Given the description of an element on the screen output the (x, y) to click on. 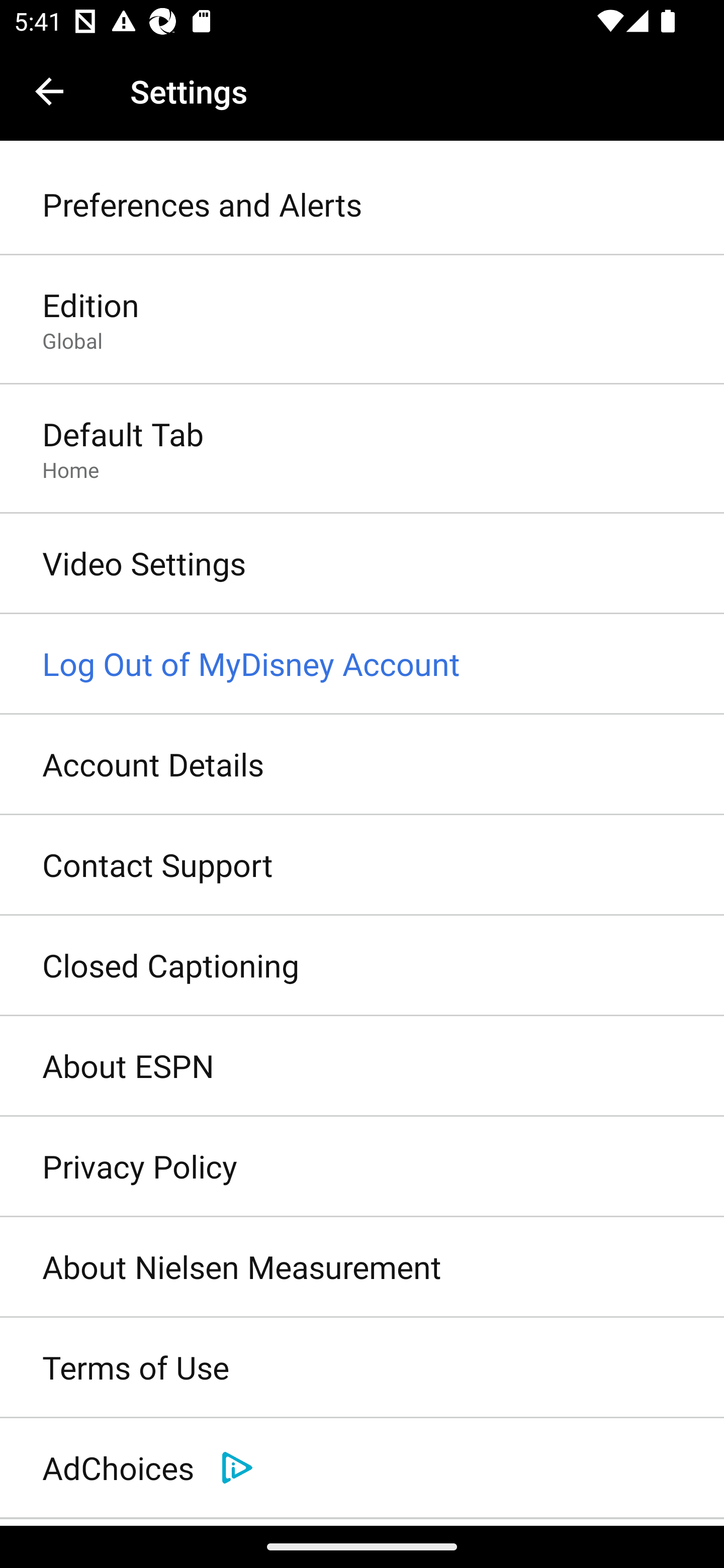
Navigate up (49, 91)
Preferences and Alerts (362, 205)
Edition Global (362, 320)
Default Tab Home (362, 449)
Video Settings (362, 564)
Log Out of MyDisney Account (362, 664)
Account Details (362, 765)
Contact Support (362, 865)
Closed Captioning (362, 965)
About ESPN (362, 1066)
Privacy Policy (362, 1167)
About Nielsen Measurement (362, 1267)
Terms of Use (362, 1368)
AdChoices (362, 1468)
